Given the description of an element on the screen output the (x, y) to click on. 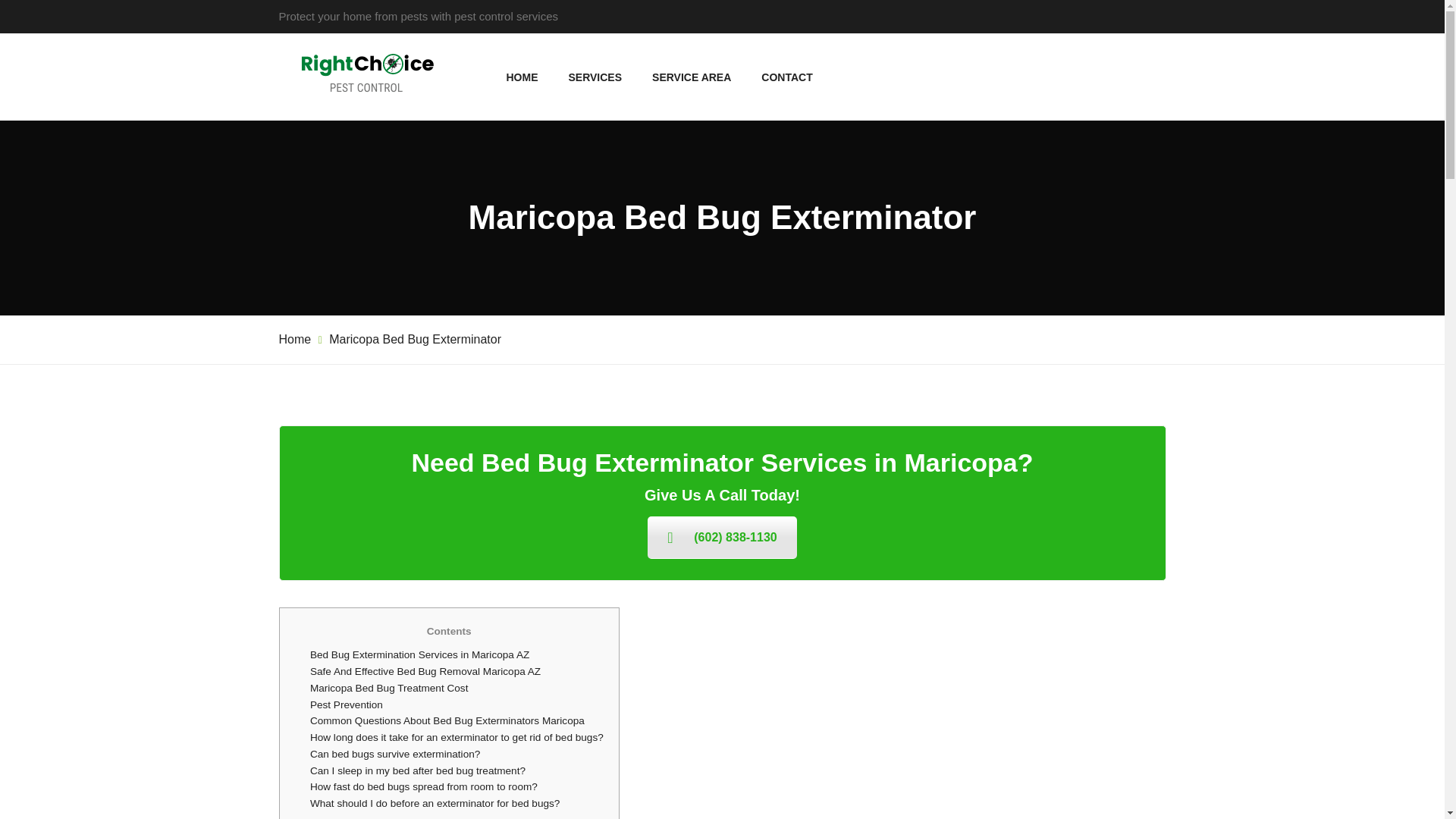
Safe And Effective Bed Bug Removal Maricopa AZ (425, 671)
Pest Prevention (346, 704)
Ant Control (734, 357)
Rodent Control (734, 292)
Bed Bug Extermination Services in Maricopa AZ (419, 654)
SERVICES (596, 77)
Bird Removal (734, 554)
HOME (522, 77)
Bed Bug Control (734, 193)
Maricopa Bed Bug Treatment Cost (389, 687)
Mosquito Control (734, 324)
Fly Control (734, 488)
How fast do bed bugs spread from room to room? (423, 786)
What should I do before an exterminator for bed bugs? (434, 803)
Home (295, 338)
